Given the description of an element on the screen output the (x, y) to click on. 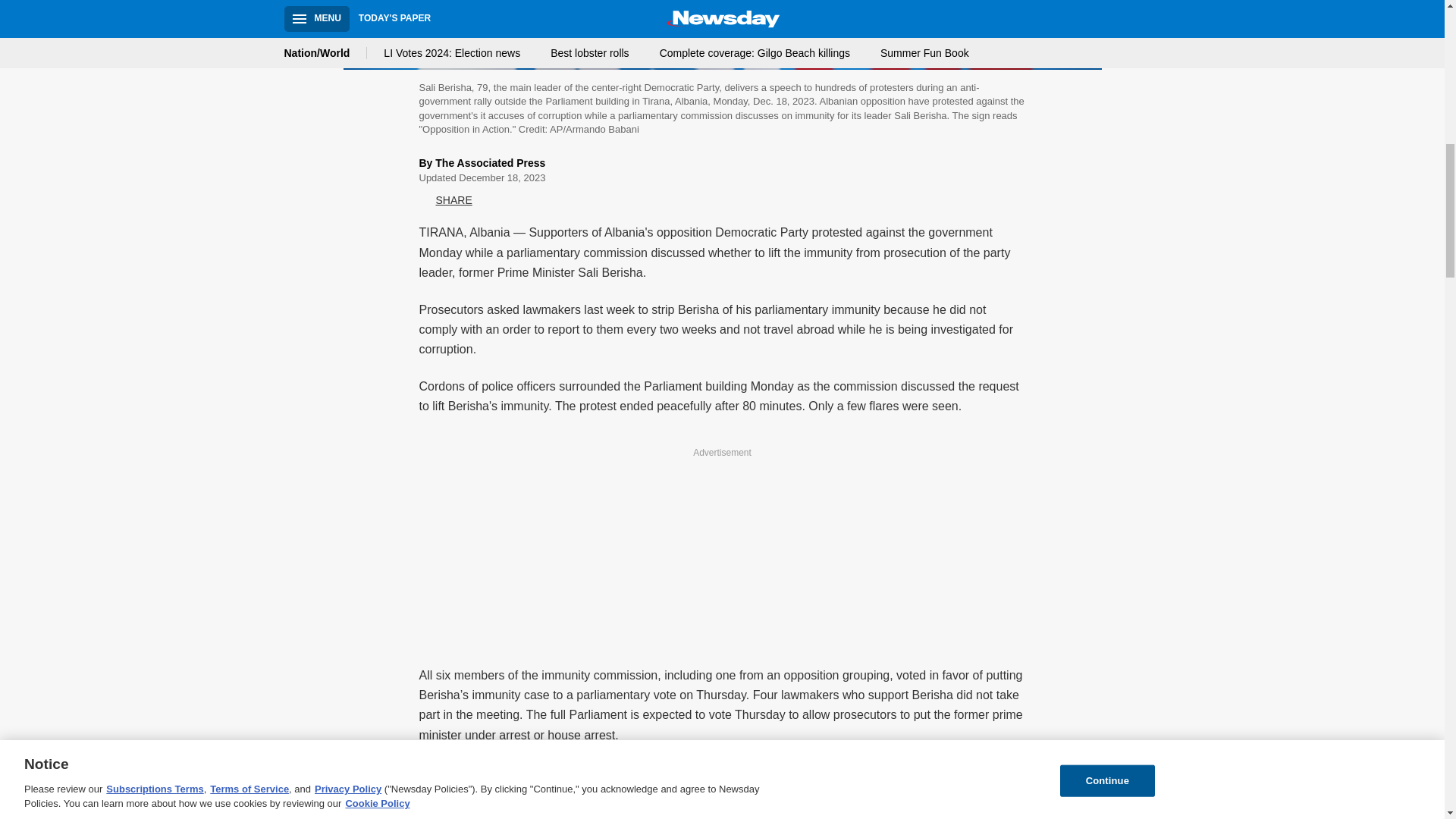
SHARE (445, 201)
